Given the description of an element on the screen output the (x, y) to click on. 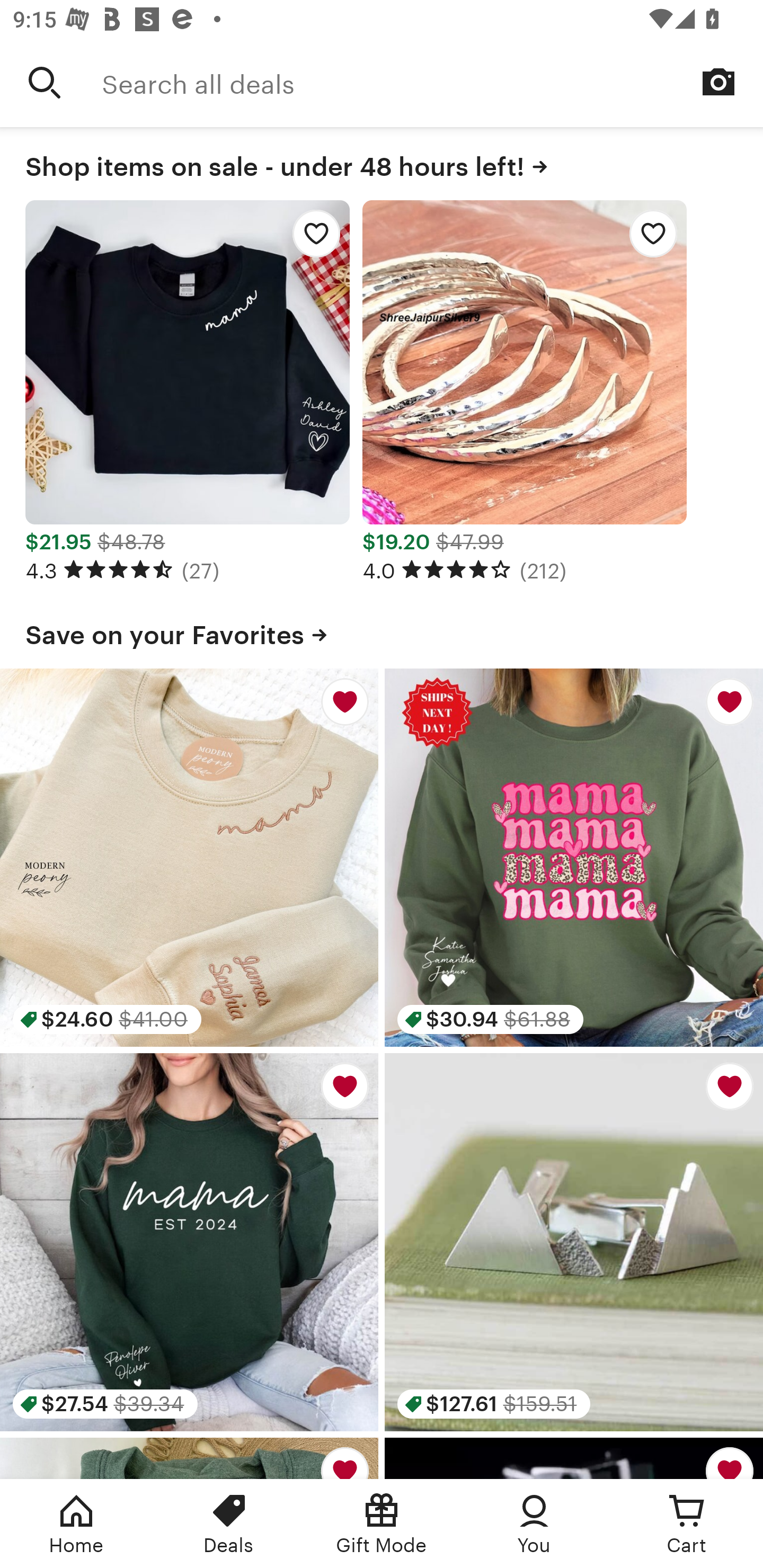
Search for anything on Etsy (44, 82)
Search by image (718, 81)
Search all deals (432, 82)
Shop items on sale - under 48 hours left! (381, 163)
Save on your Favorites (381, 631)
Home (76, 1523)
Gift Mode (381, 1523)
You (533, 1523)
Cart (686, 1523)
